Given the description of an element on the screen output the (x, y) to click on. 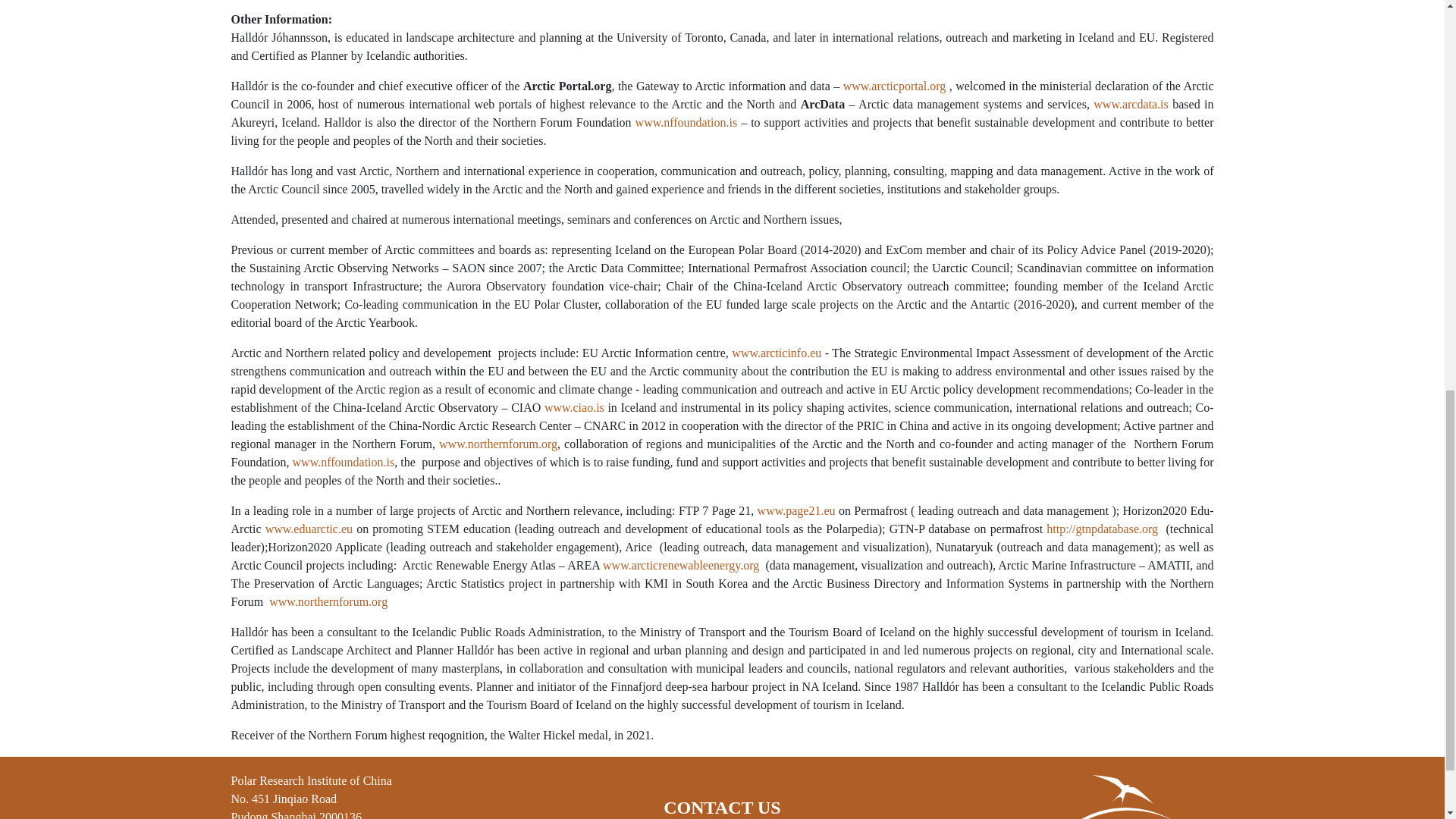
www.arcticrenewableenergy.org (680, 564)
www.arcticportal.org (894, 85)
www.page21.eu (796, 510)
www.nffoundation.is (343, 461)
www.northernforum.org (328, 601)
www.arcticinfo.eu (776, 352)
CONTACT US (721, 807)
www.nffoundation.is (686, 122)
Arctic Portal (1123, 796)
www.ciao.is (574, 407)
www.eduarctic.eu (308, 528)
www.northernforum.org (498, 443)
www.arcdata.is (1130, 103)
